Given the description of an element on the screen output the (x, y) to click on. 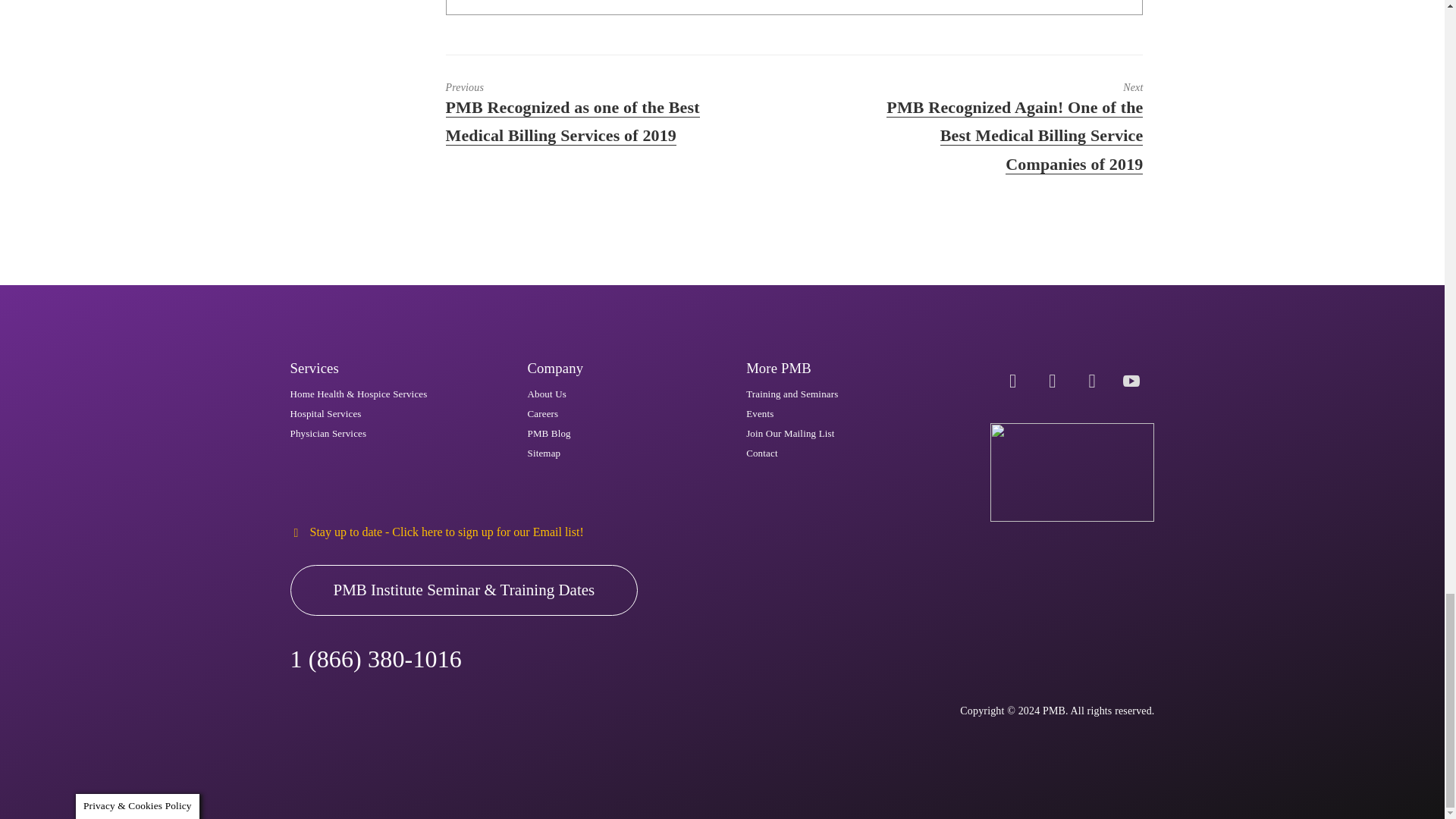
PMB logo - tagline white (1072, 472)
YouTube Channel (1131, 380)
Facebook Page (1012, 380)
LinkedIn Profile (1091, 380)
Facebook Group (1051, 380)
